Given the description of an element on the screen output the (x, y) to click on. 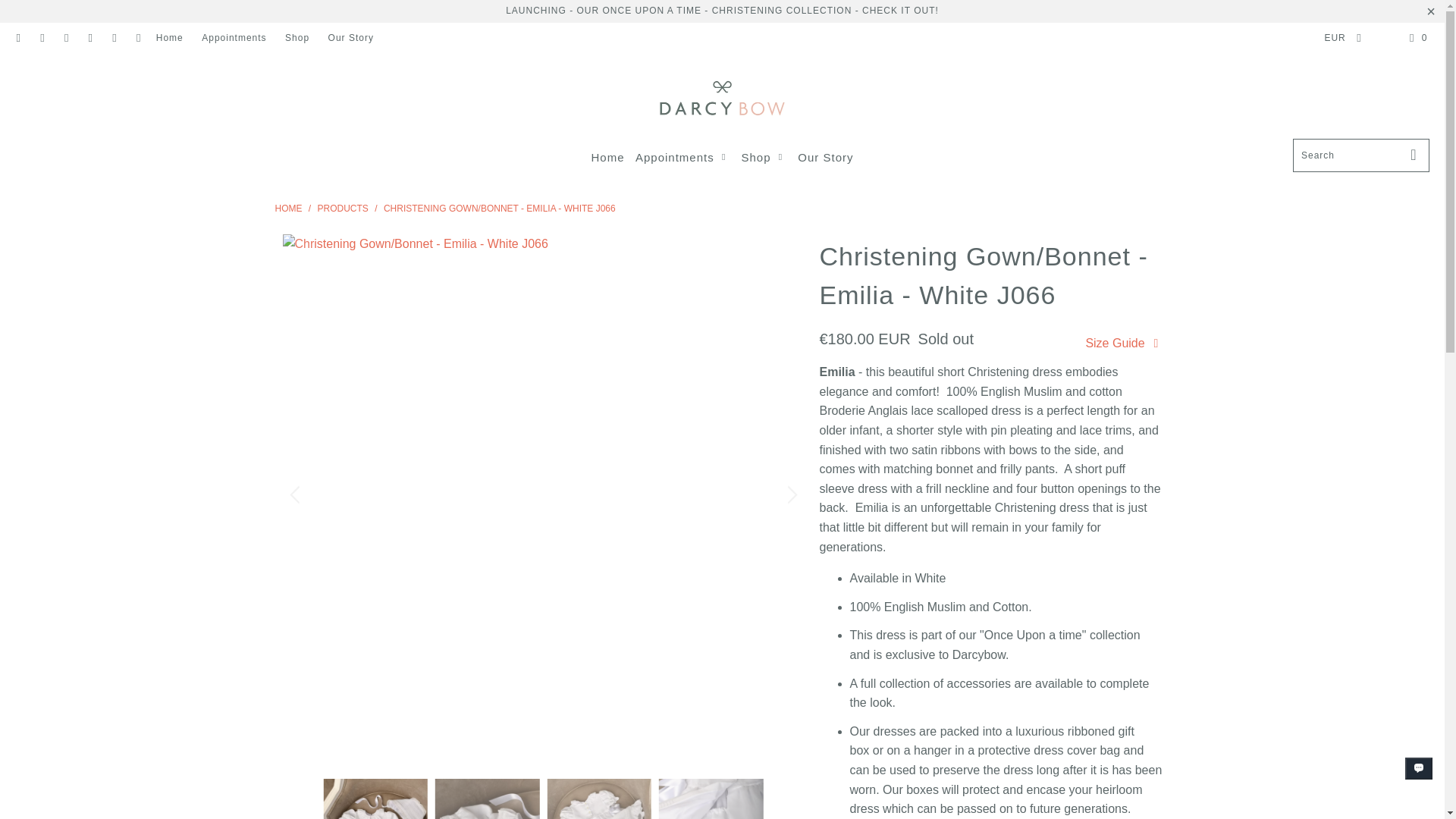
Darcybow on Pinterest (89, 37)
Darcybow on Twitter (17, 37)
Darcybow on Facebook (41, 37)
Darcybow on Instagram (113, 37)
Darcybow (288, 208)
Darcybow (722, 99)
Products (342, 208)
Darcybow on YouTube (65, 37)
Email Darcybow (138, 37)
